Given the description of an element on the screen output the (x, y) to click on. 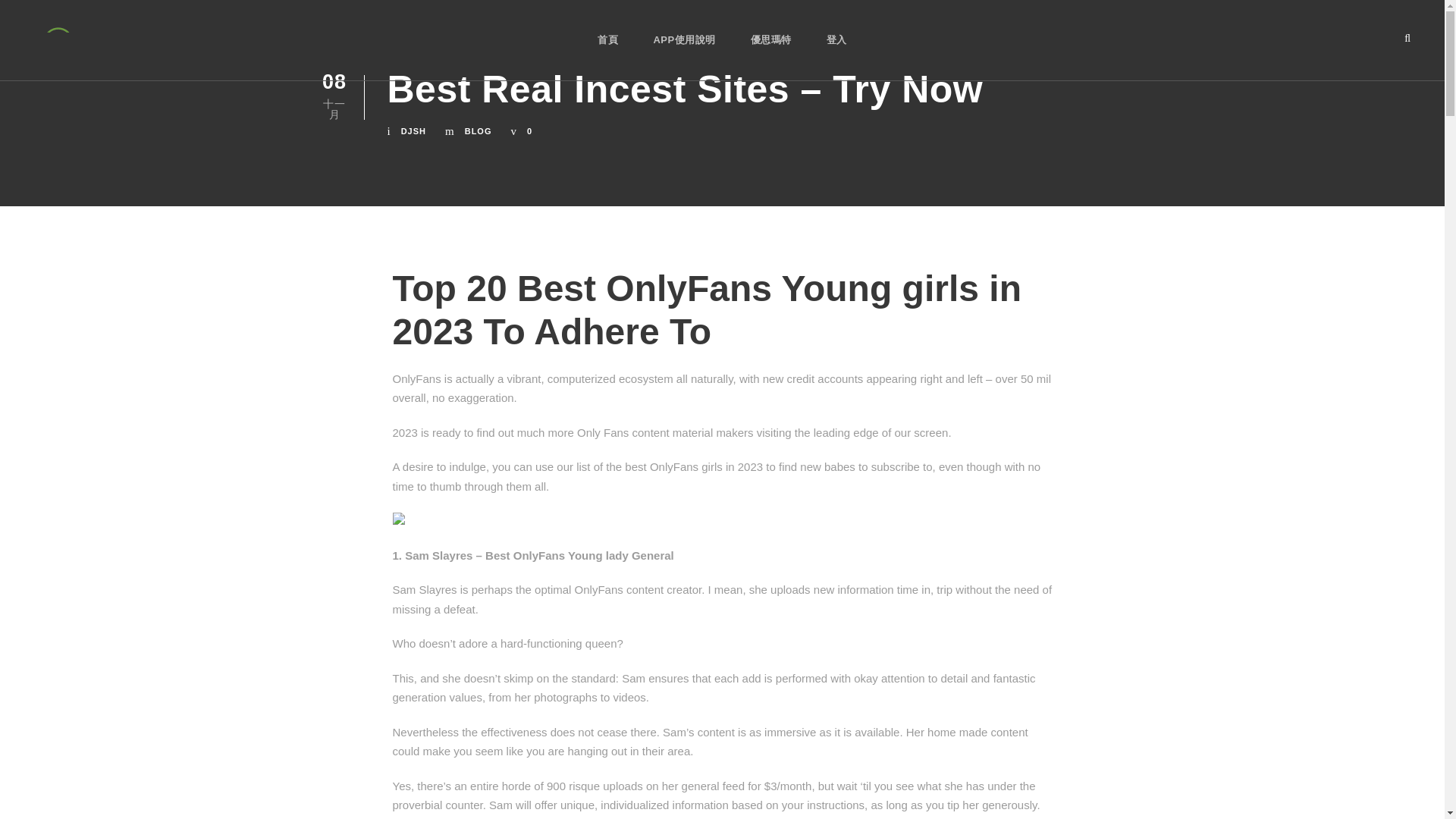
BLOG (478, 130)
DJSH (413, 130)
